Given the description of an element on the screen output the (x, y) to click on. 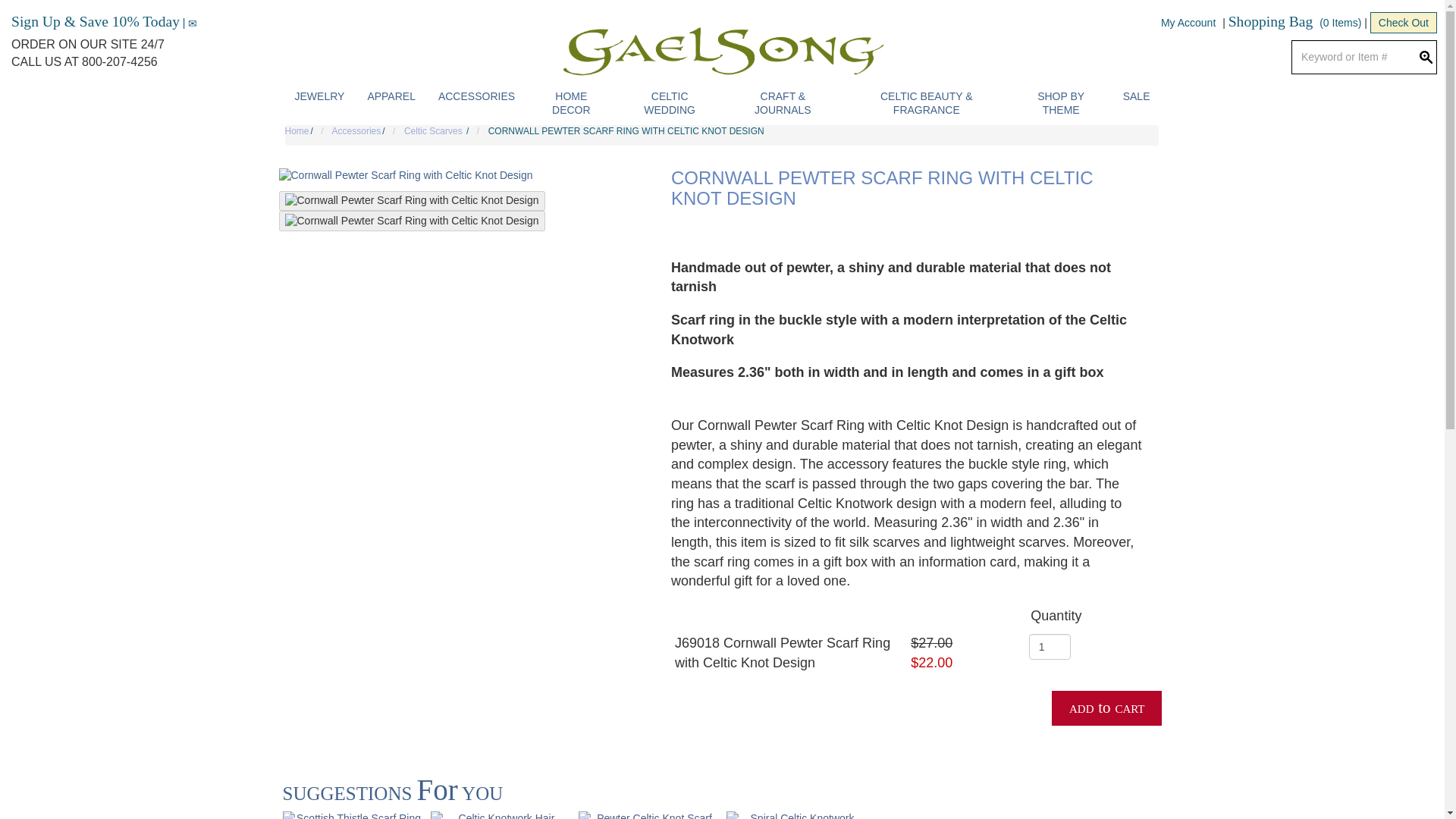
1 (1049, 646)
